Given the description of an element on the screen output the (x, y) to click on. 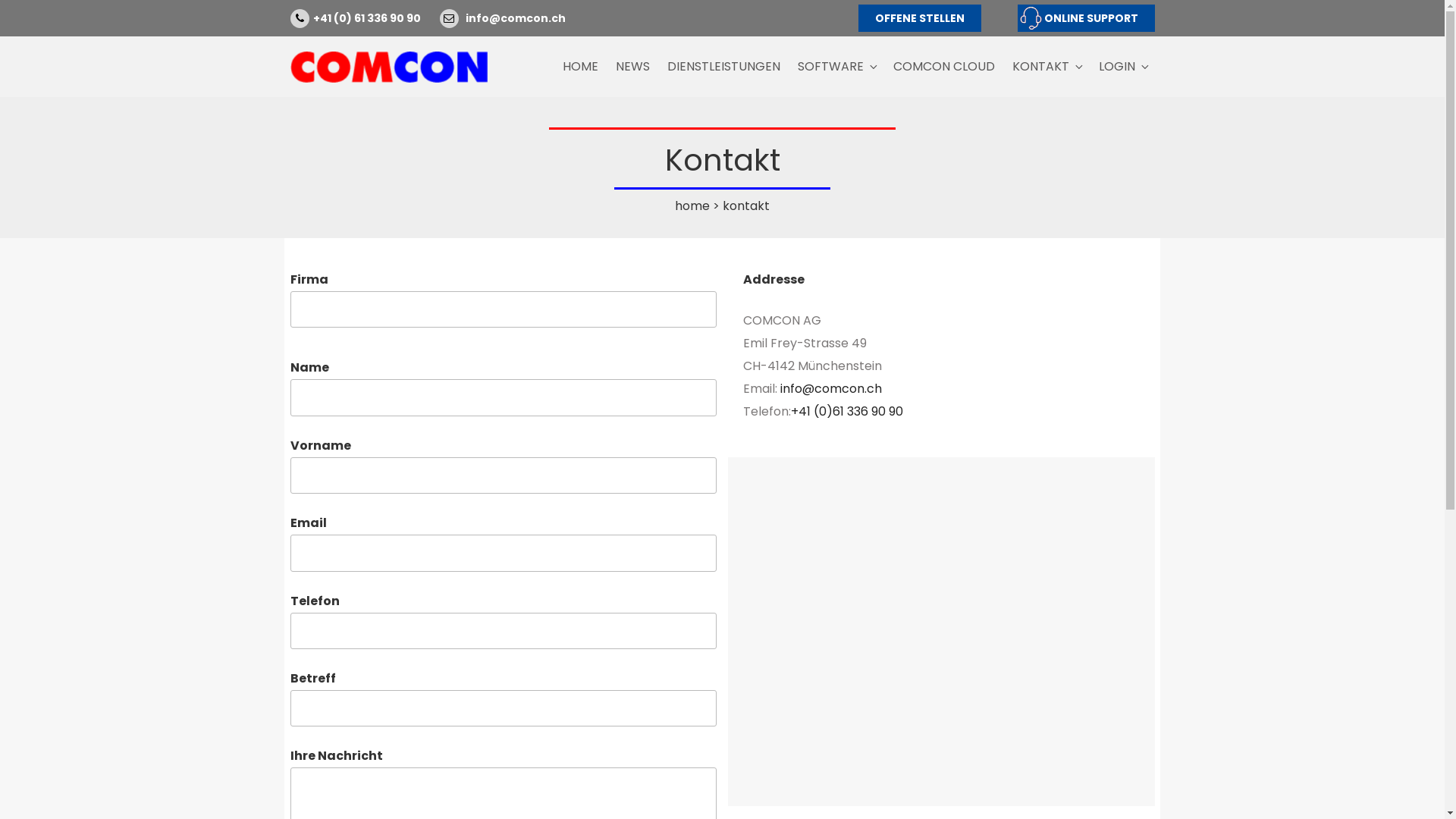
COMCON CLOUD Element type: text (943, 66)
ONLINE SUPPORT Element type: text (1085, 17)
info@comcon.ch Element type: text (515, 17)
Zum Inhalt springen Element type: text (0, 0)
SOFTWARE Element type: text (836, 66)
NEWS Element type: text (632, 66)
info@comcon.ch Element type: text (830, 388)
HOME Element type: text (580, 66)
OFFENE STELLEN Element type: text (919, 17)
home Element type: text (691, 205)
+41 (0) 61 336 90 90 Element type: text (366, 18)
KONTAKT Element type: text (1046, 66)
DIENSTLEISTUNGEN Element type: text (723, 66)
LOGIN Element type: text (1123, 66)
+41 (0)61 336 90 90 Element type: text (846, 411)
